Given the description of an element on the screen output the (x, y) to click on. 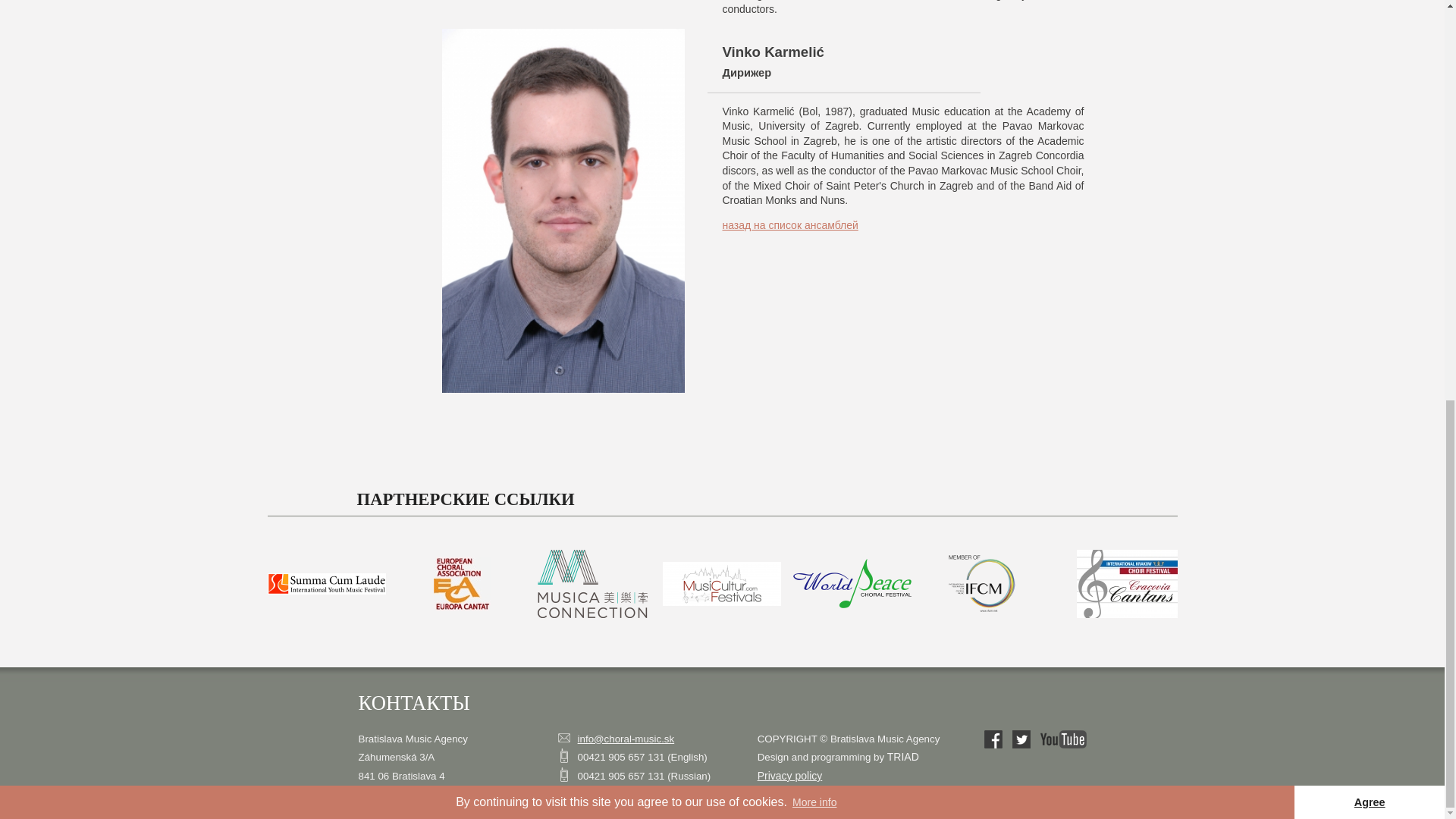
Summa Cum Laude (325, 583)
European Choral Association - Europa Cantat (461, 583)
TRIAD (902, 756)
More info (814, 19)
Privacy policy (789, 775)
Youtube (1063, 739)
Agree (1369, 19)
Musica Connection (592, 583)
Facebook (993, 739)
Twitter (1020, 739)
